Given the description of an element on the screen output the (x, y) to click on. 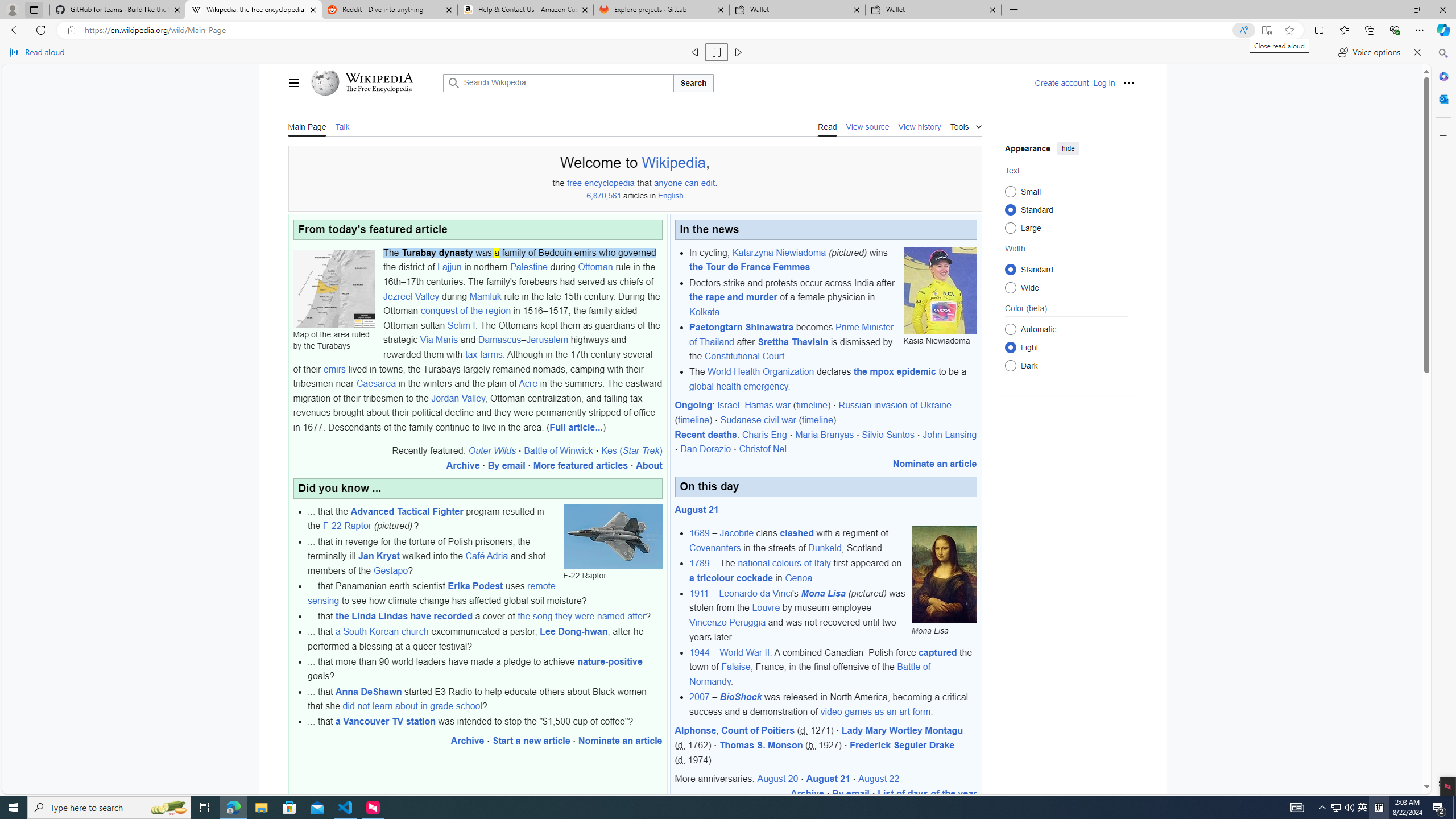
Small (1010, 191)
English (671, 195)
Personal tools (1128, 82)
Gestapo (389, 570)
Prime Minister of Thailand (790, 334)
Read (827, 125)
Automatic (1010, 328)
